Given the description of an element on the screen output the (x, y) to click on. 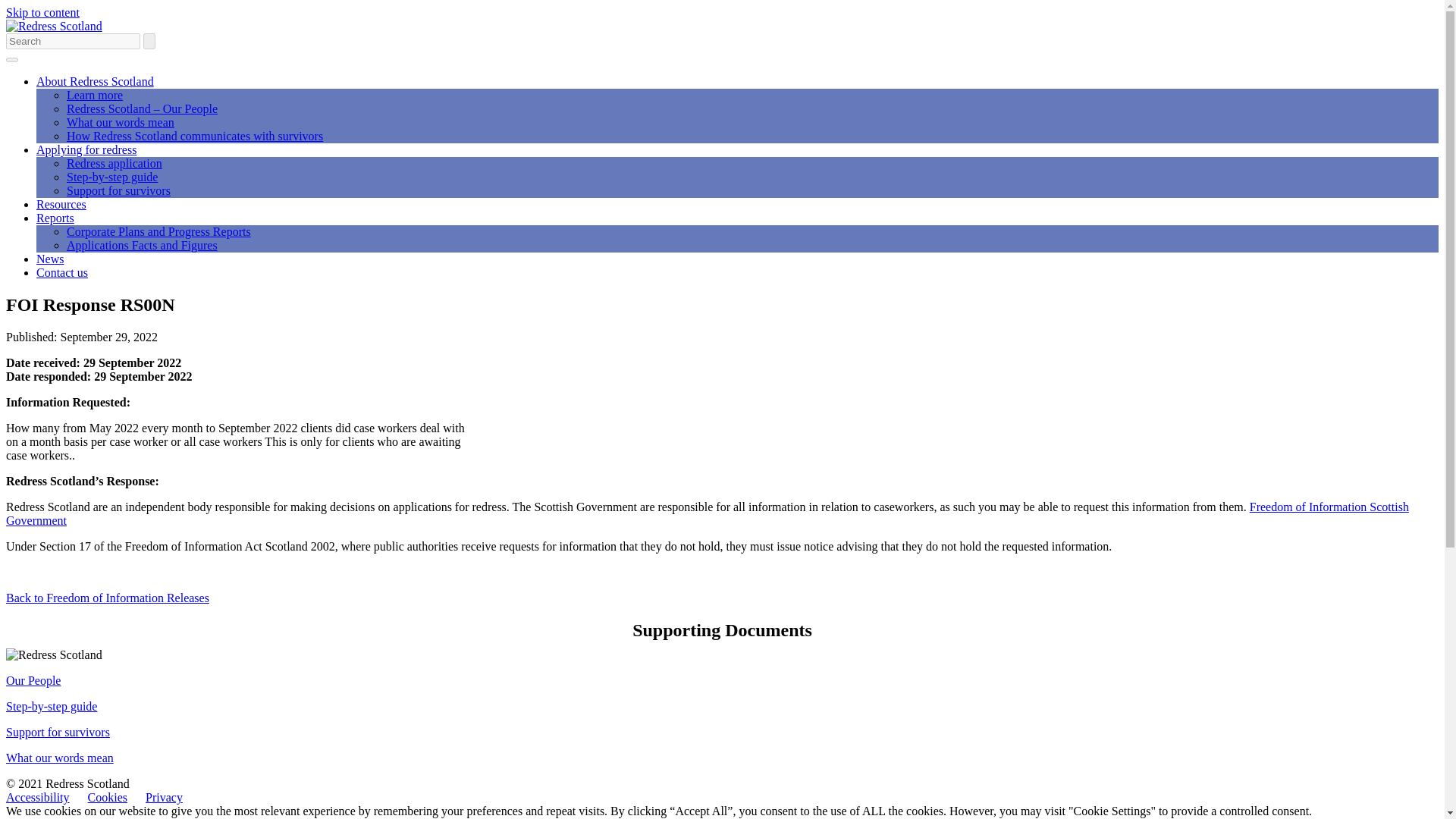
Redress application (113, 163)
Reports (55, 217)
What our words mean (120, 122)
Search (148, 41)
Contact us (61, 272)
News (50, 258)
Redress application (113, 163)
Corporate Plans and Progress Reports (158, 231)
Corporate Plans and Progress Reports (158, 231)
How Redress Scotland communicates with survivors (194, 135)
Reports (55, 217)
Accessibility (37, 797)
Applying for redress (86, 149)
Our People (33, 680)
Contact us (61, 272)
